Given the description of an element on the screen output the (x, y) to click on. 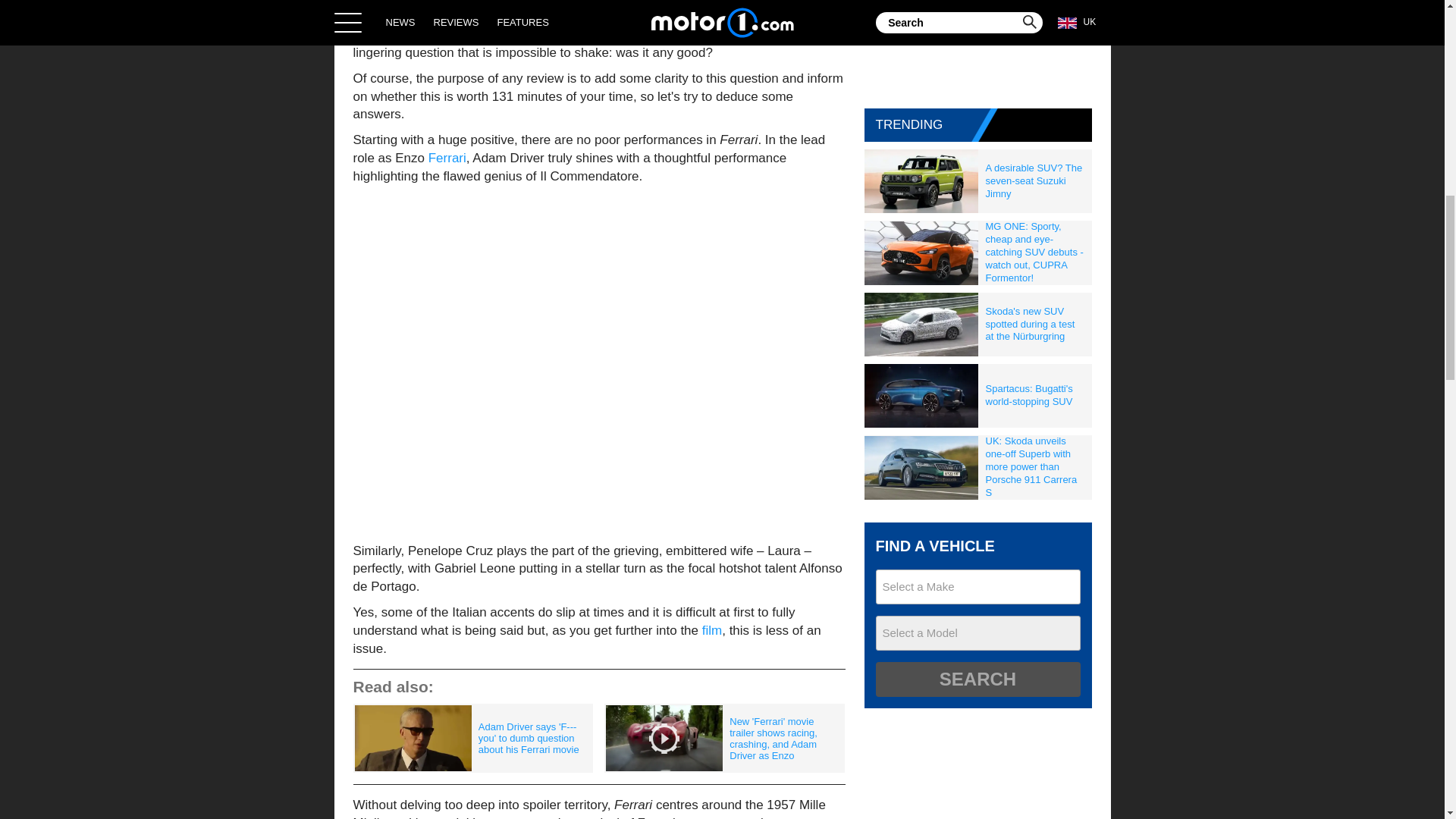
Ferrari (446, 157)
A desirable SUV? The seven-seat Suzuki Jimny (1035, 181)
Search (977, 678)
film (711, 630)
